Given the description of an element on the screen output the (x, y) to click on. 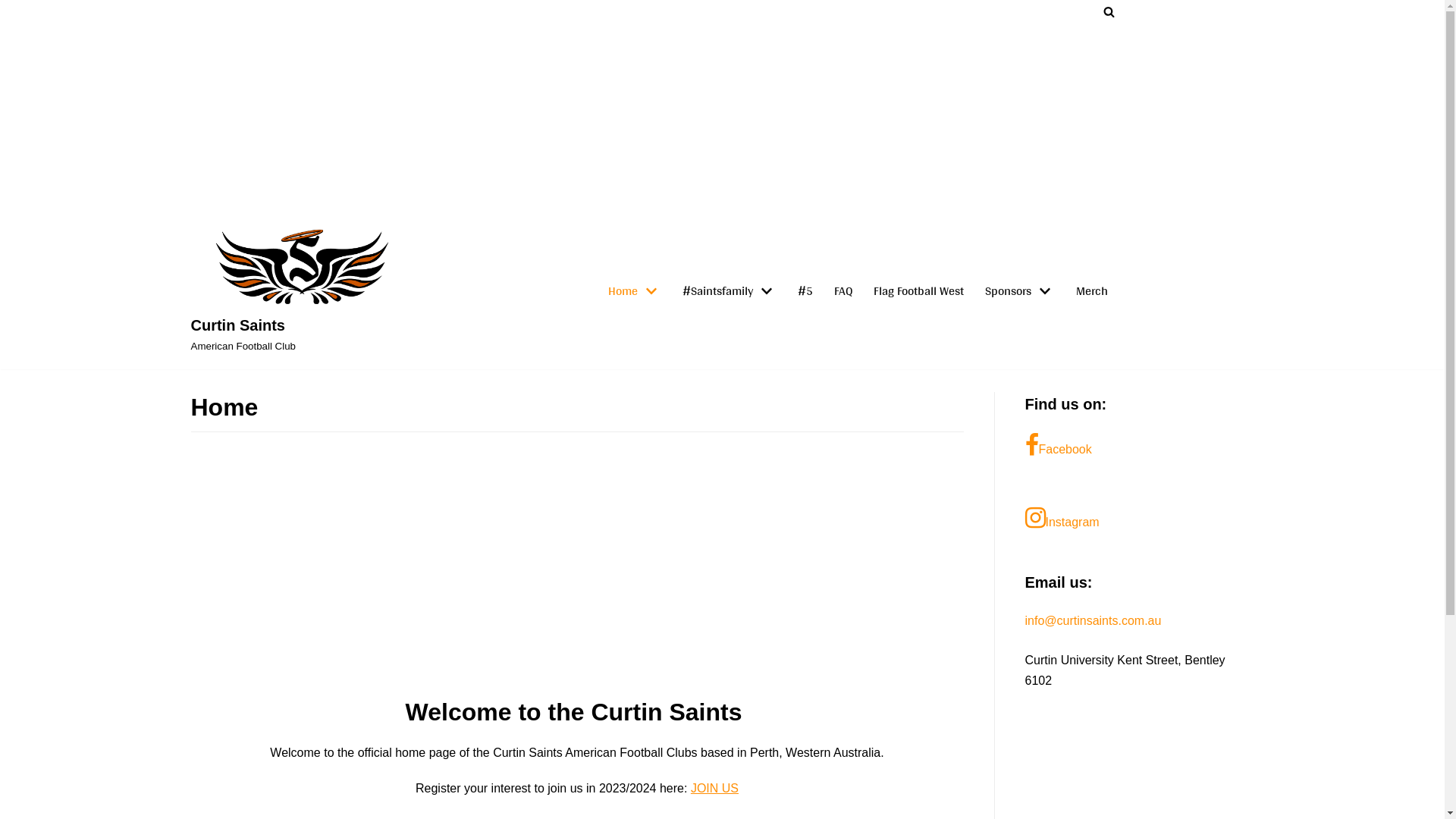
#Saintsfamily Element type: text (729, 291)
Sponsors Element type: text (1019, 291)
Curtin Saints
American Football Club Element type: text (302, 287)
FAQ Element type: text (843, 291)
Instagram Element type: text (1139, 519)
Search Element type: text (1236, 409)
Home Element type: text (634, 291)
Skip to content Element type: text (15, 31)
Flag Football West Element type: text (918, 291)
Merch Element type: text (1091, 291)
JOIN US Element type: text (714, 787)
Facebook Element type: text (1139, 446)
#5 Element type: text (804, 291)
info@curtinsaints.com.au Element type: text (1093, 620)
